Given the description of an element on the screen output the (x, y) to click on. 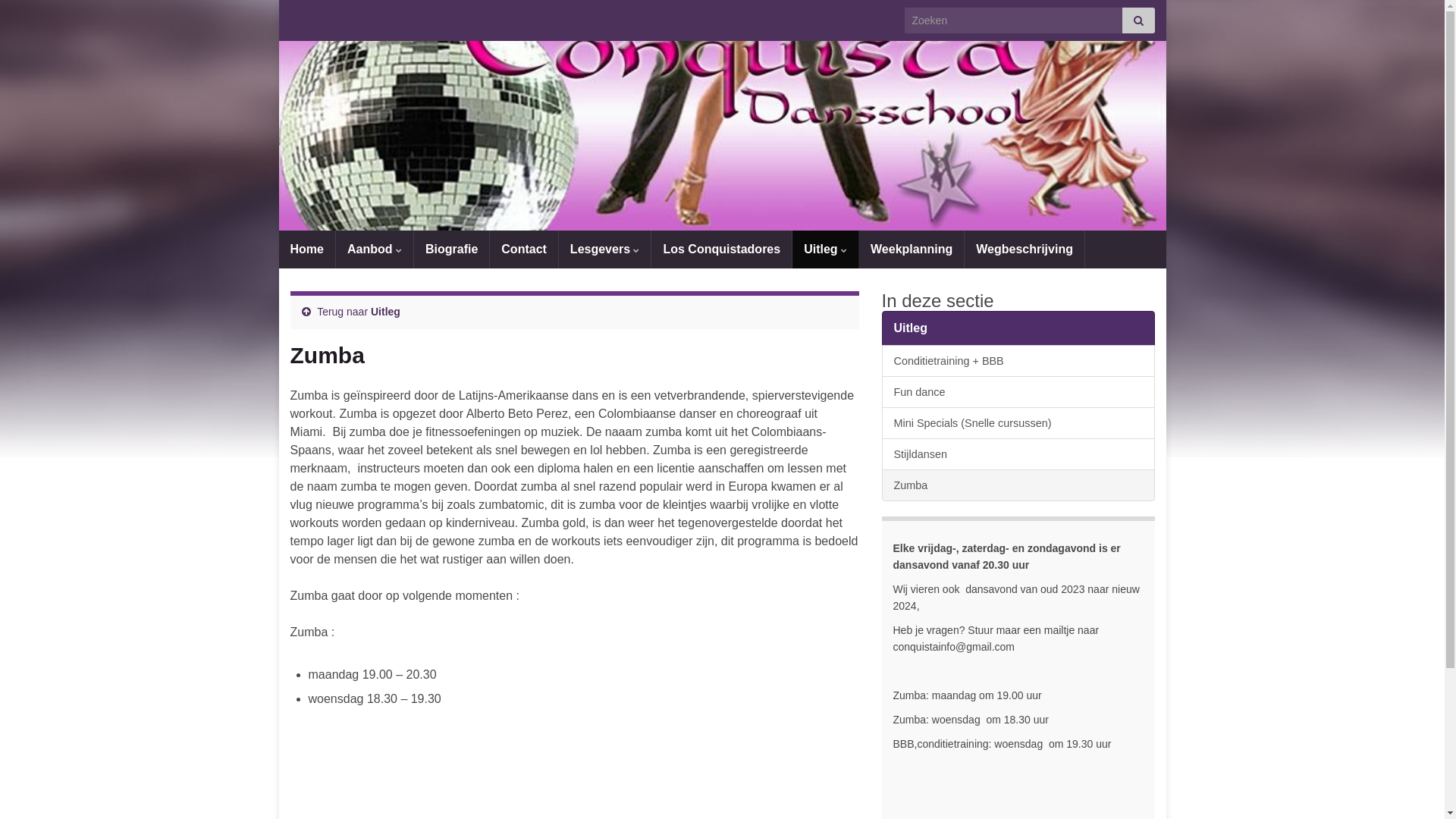
Uitleg Element type: text (1017, 327)
Biografie Element type: text (451, 249)
Home Element type: text (307, 249)
Conditietraining + BBB Element type: text (1017, 360)
Contact Element type: text (523, 249)
Lesgevers Element type: text (604, 249)
Weekplanning Element type: text (911, 249)
Aanbod Element type: text (374, 249)
Zumba Element type: text (1017, 485)
paars logo Element type: hover (722, 156)
Mini Specials (Snelle cursussen) Element type: text (1017, 423)
Uitleg Element type: text (825, 249)
Stijldansen Element type: text (1017, 454)
Fun dance Element type: text (1017, 391)
Wegbeschrijving Element type: text (1024, 249)
Uitleg Element type: text (385, 311)
Los Conquistadores Element type: text (721, 249)
